Given the description of an element on the screen output the (x, y) to click on. 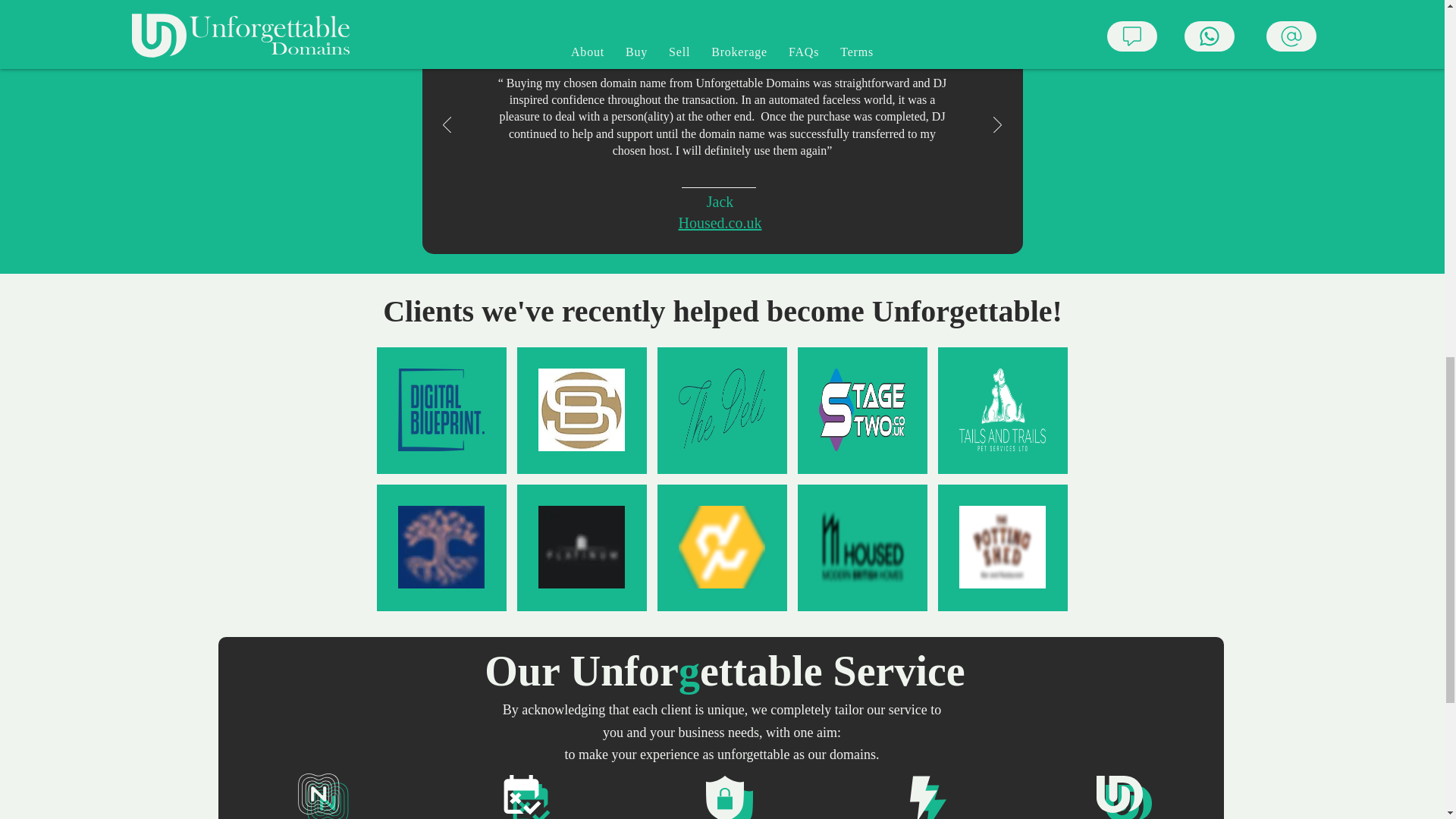
ThePottingShed.co.uk (1002, 547)
COL.co.uk (440, 547)
DesignHive.co.uk (721, 547)
PlatinumConstructin.co.uk (581, 547)
TheDeli.co.uk (721, 409)
Housed.co.uk (861, 547)
DigitalBlueprint.co.uk (440, 409)
Housed.co.uk (719, 233)
SmartBeauty.co.uk (581, 409)
TailsandTrails.co.uk (1002, 409)
StageTwo.co.uk (861, 409)
